Given the description of an element on the screen output the (x, y) to click on. 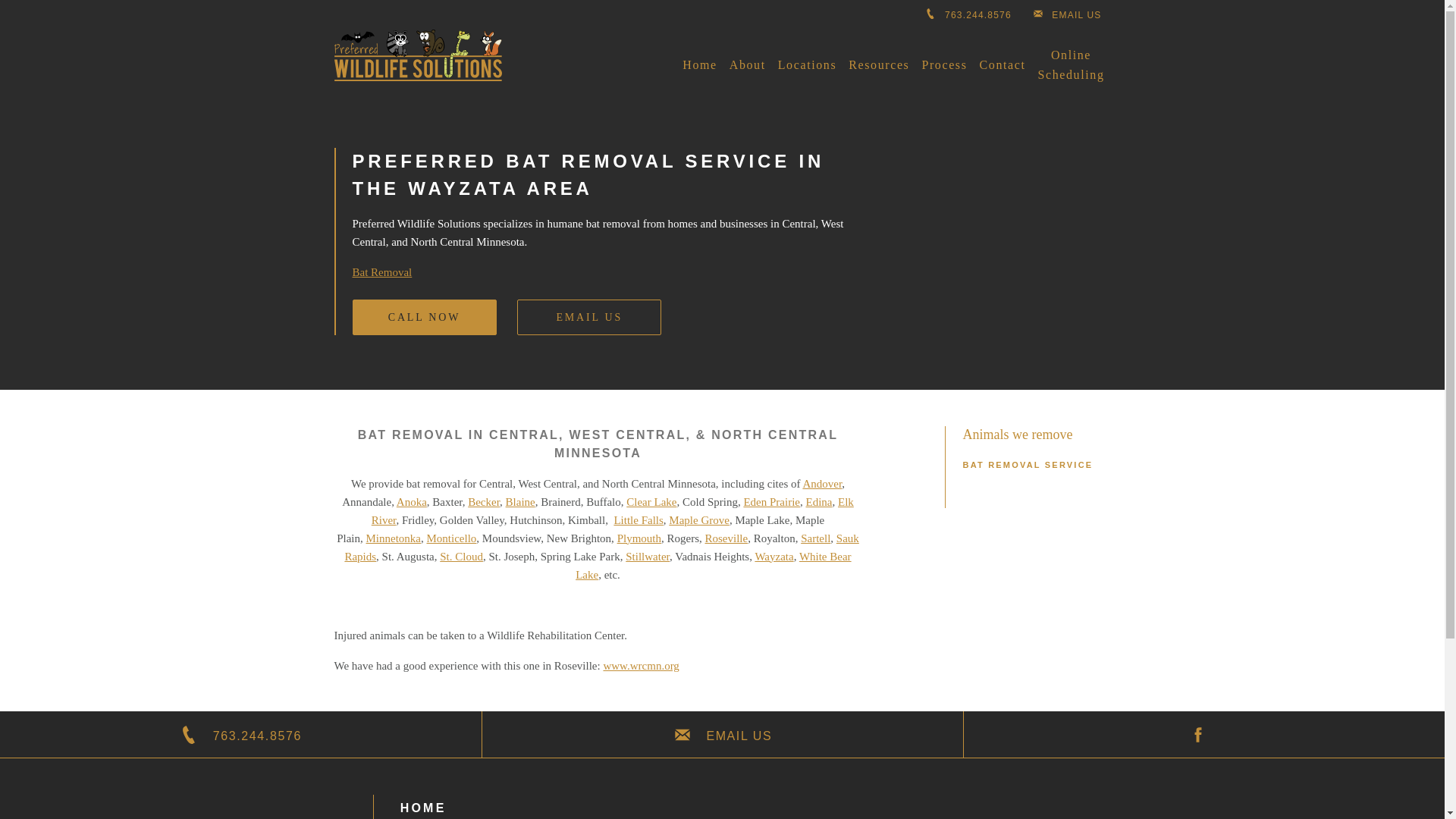
763.244.8576 (967, 12)
EMAIL US (1066, 12)
White Bear Lake (712, 565)
Eden Prairie (770, 501)
St. Cloud (461, 556)
EMAIL US (721, 734)
Monticello (451, 538)
763.244.8576 (240, 734)
EMAIL US (588, 316)
Roseville (726, 538)
